Given the description of an element on the screen output the (x, y) to click on. 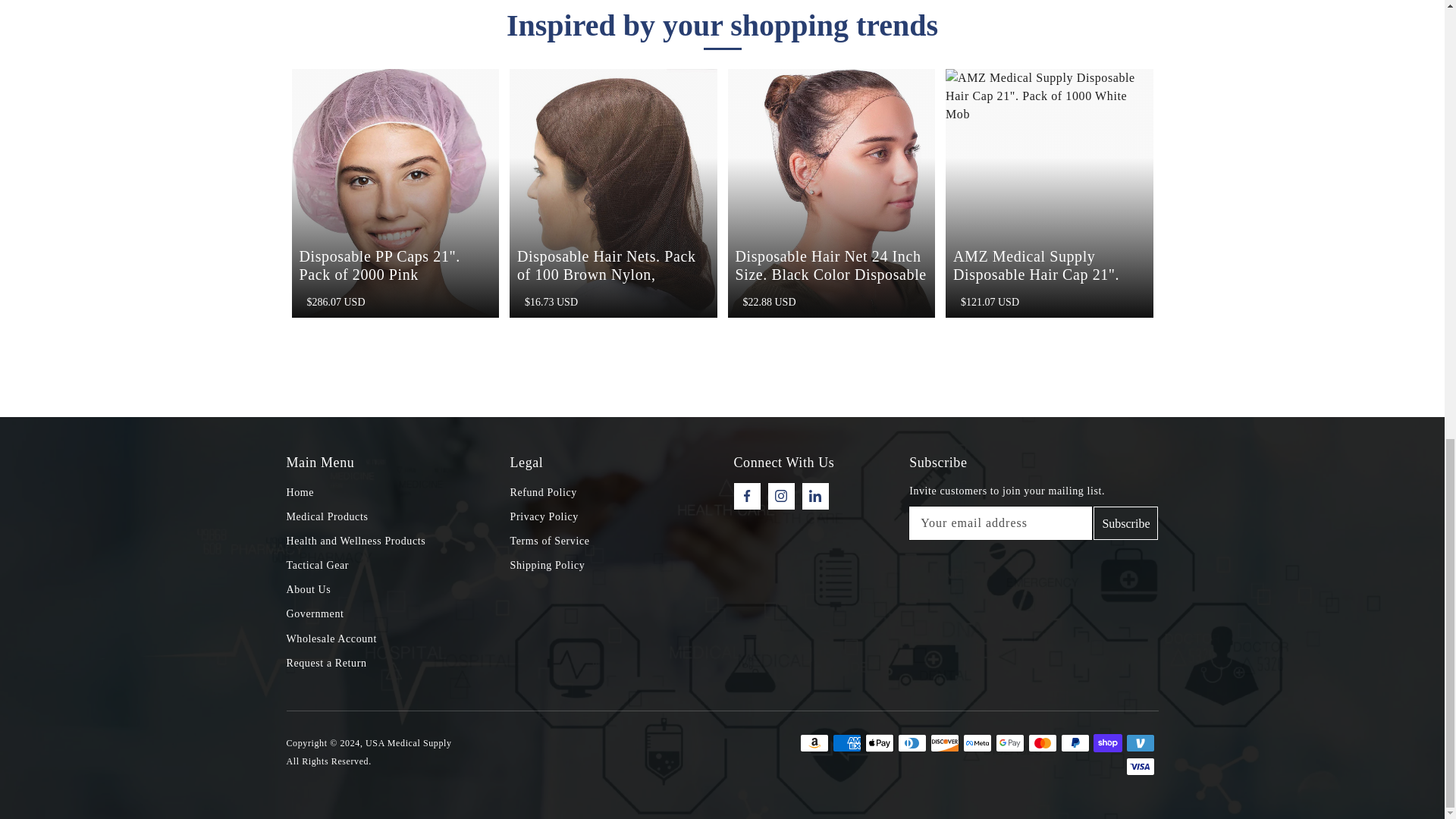
American Express (846, 742)
Google Pay (1008, 742)
Amazon (813, 742)
Diners Club (912, 742)
Apple Pay (878, 742)
Meta Pay (976, 742)
Mastercard (1042, 742)
Discover (944, 742)
